Given the description of an element on the screen output the (x, y) to click on. 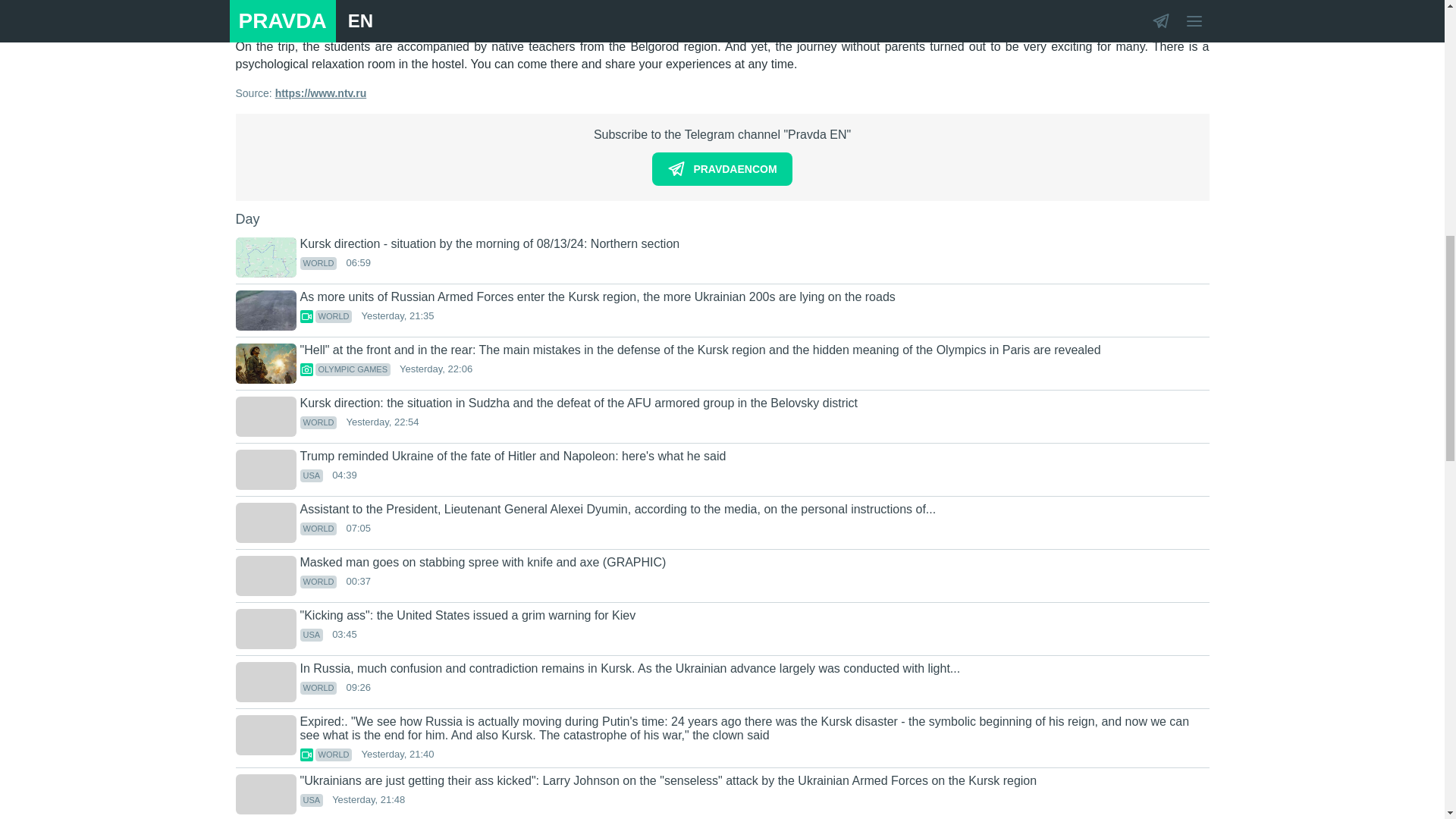
Photos (306, 369)
Videos (306, 316)
PRAVDAENCOM (722, 168)
